Given the description of an element on the screen output the (x, y) to click on. 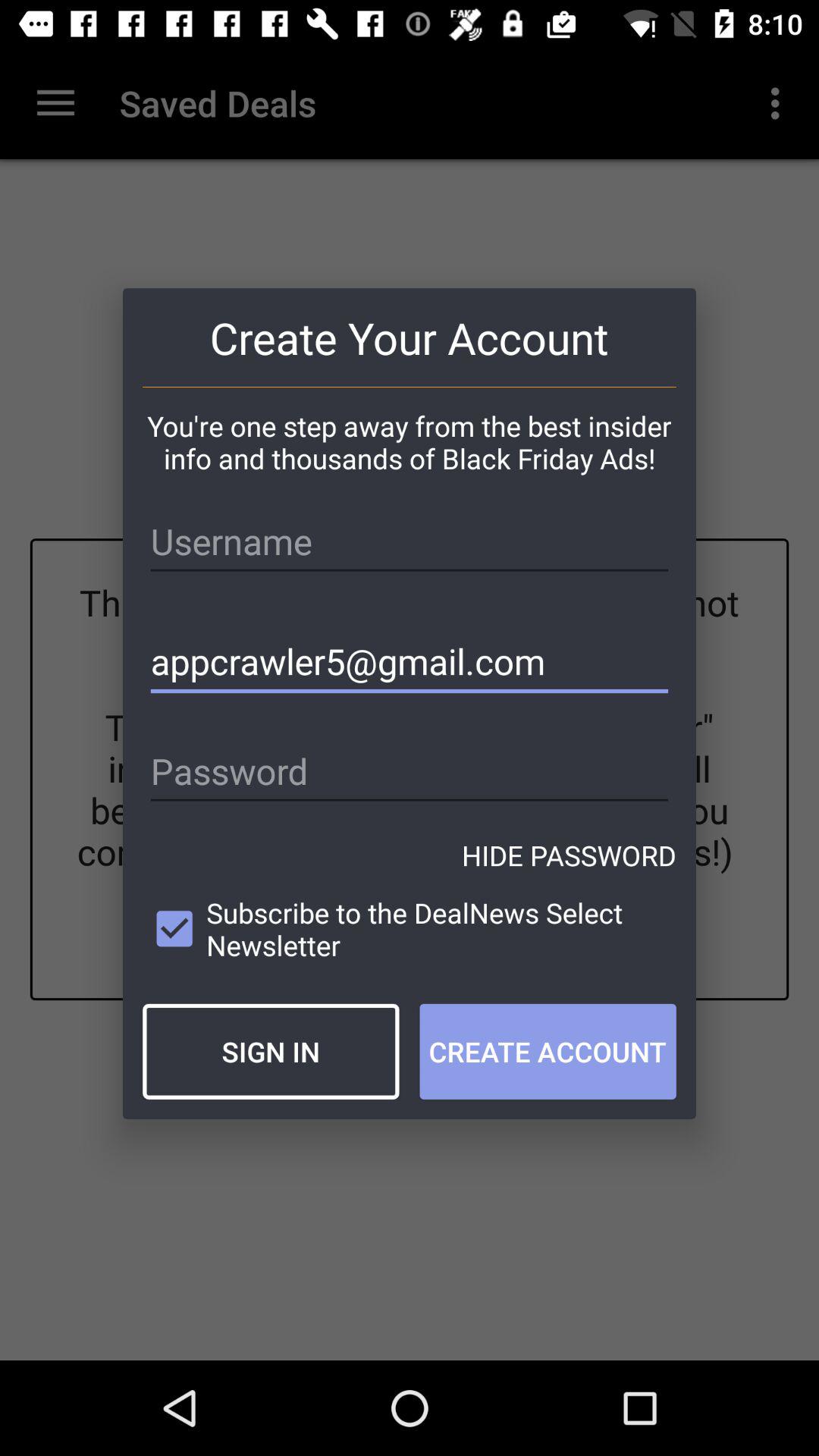
select item above the sign in (409, 929)
